Given the description of an element on the screen output the (x, y) to click on. 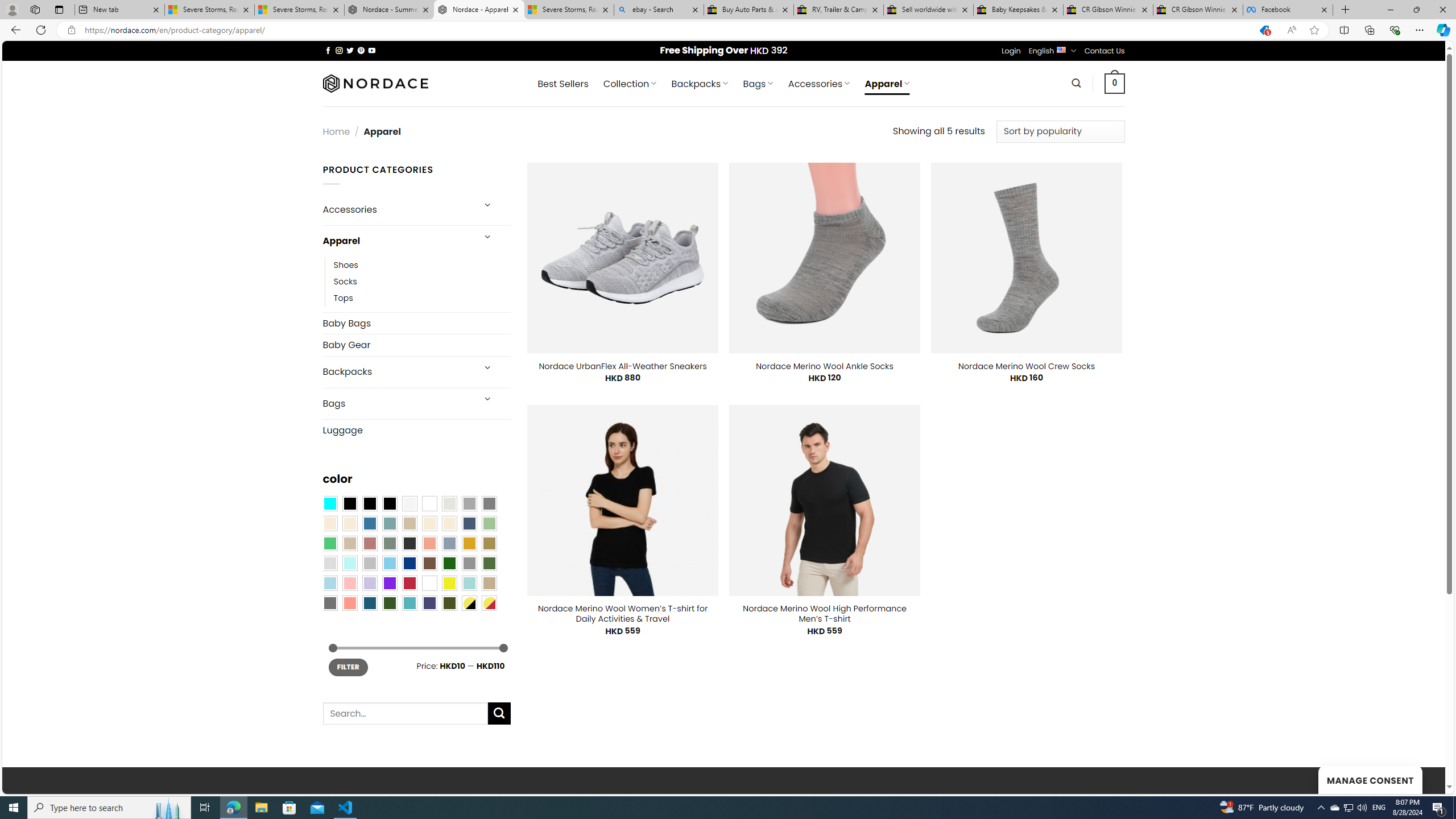
Pink (349, 582)
Login (1010, 50)
 0  (1115, 83)
Gold (468, 542)
Follow on Twitter (349, 49)
Nordace Merino Wool Crew Socks (1026, 365)
Follow on Instagram (338, 49)
Caramel (429, 522)
